Given the description of an element on the screen output the (x, y) to click on. 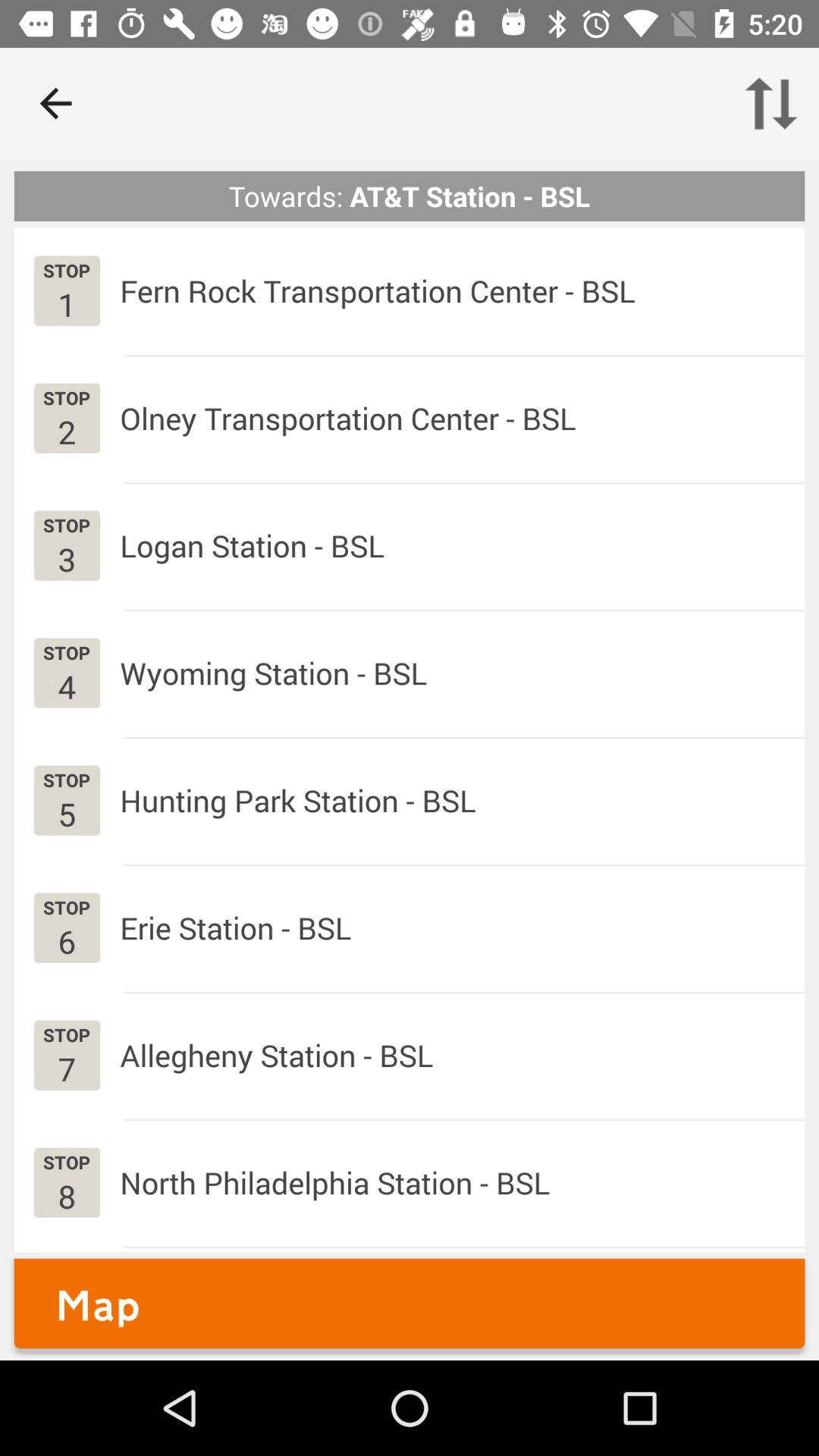
turn on the icon to the left of the north philadelphia station app (66, 1195)
